Given the description of an element on the screen output the (x, y) to click on. 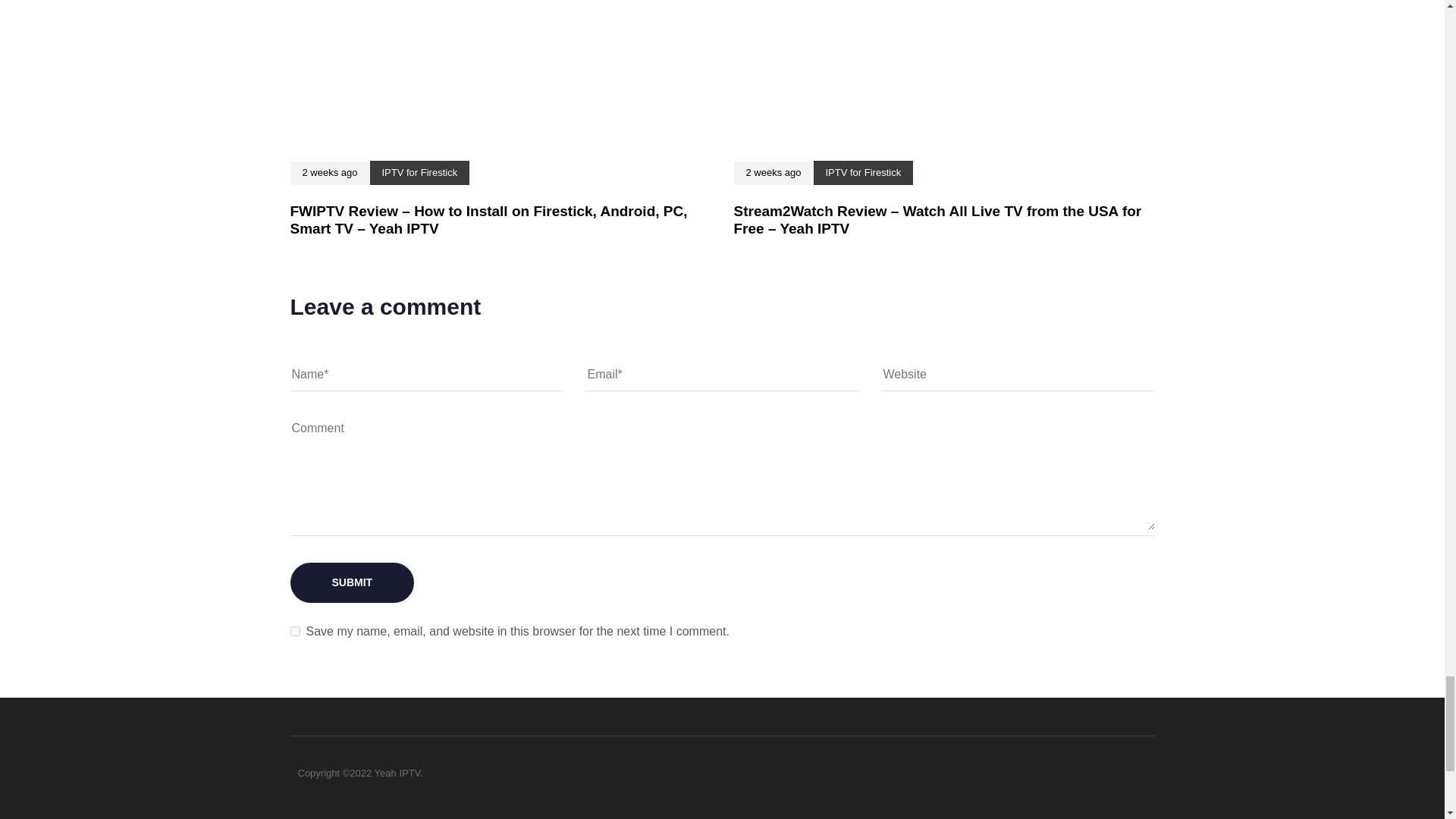
Submit (351, 582)
yes (294, 631)
